Given the description of an element on the screen output the (x, y) to click on. 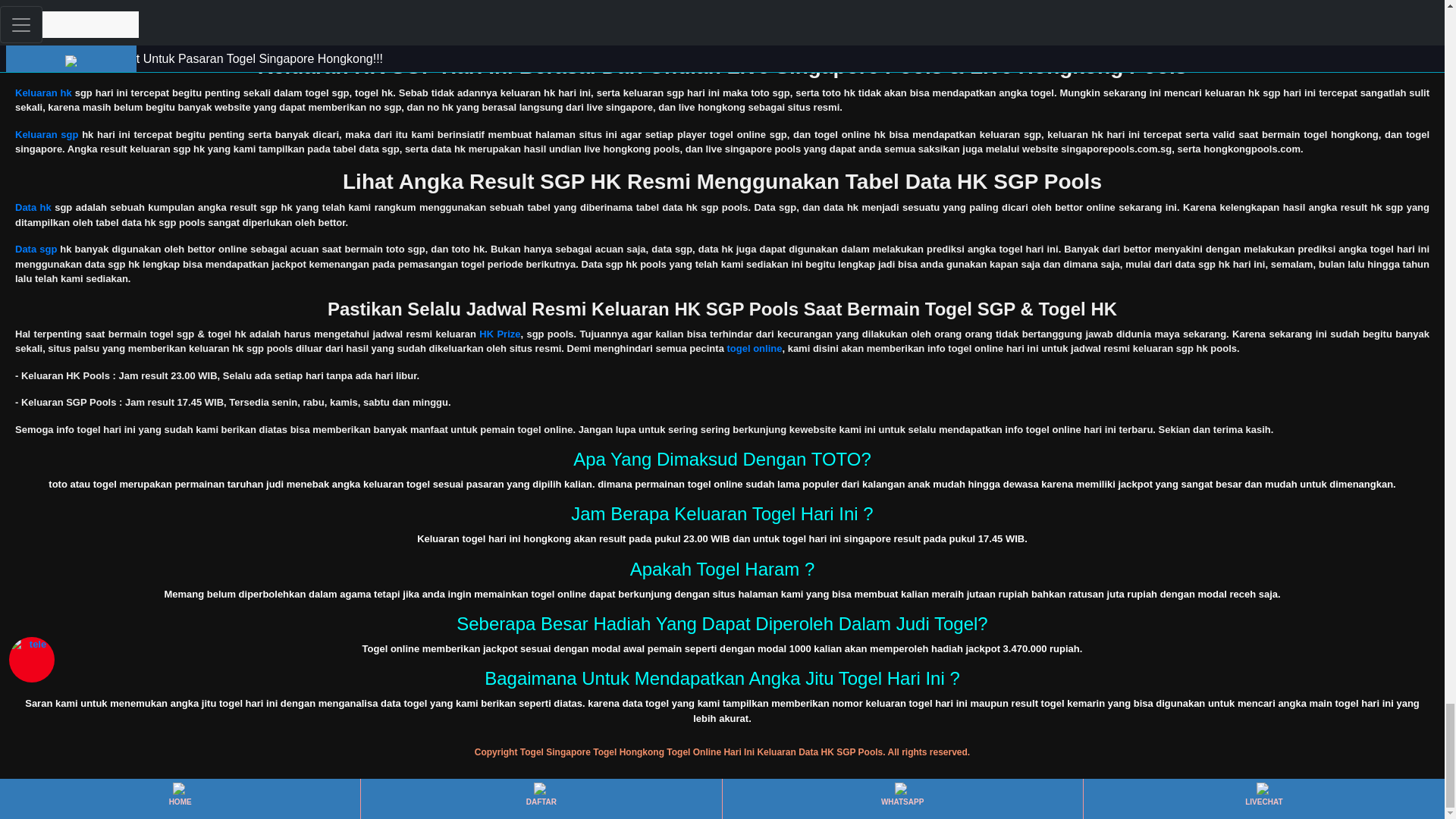
Data hk (32, 206)
HK Prize (499, 333)
Data sgp (35, 248)
Keluaran sgp (46, 134)
Keluaran hk (42, 92)
Togel hari ini (45, 19)
togel online (753, 348)
